Given the description of an element on the screen output the (x, y) to click on. 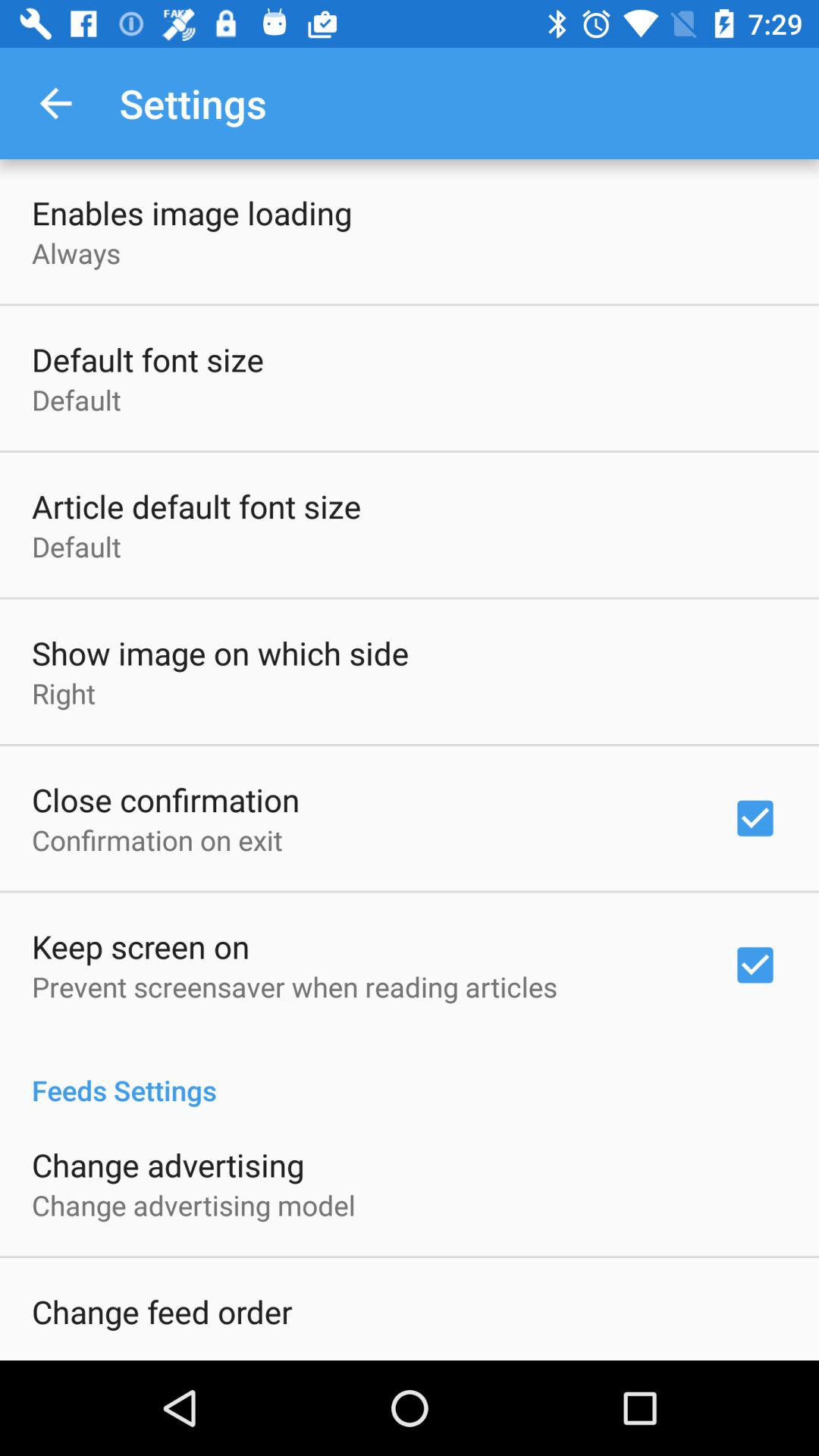
turn on feeds settings (409, 1074)
